Given the description of an element on the screen output the (x, y) to click on. 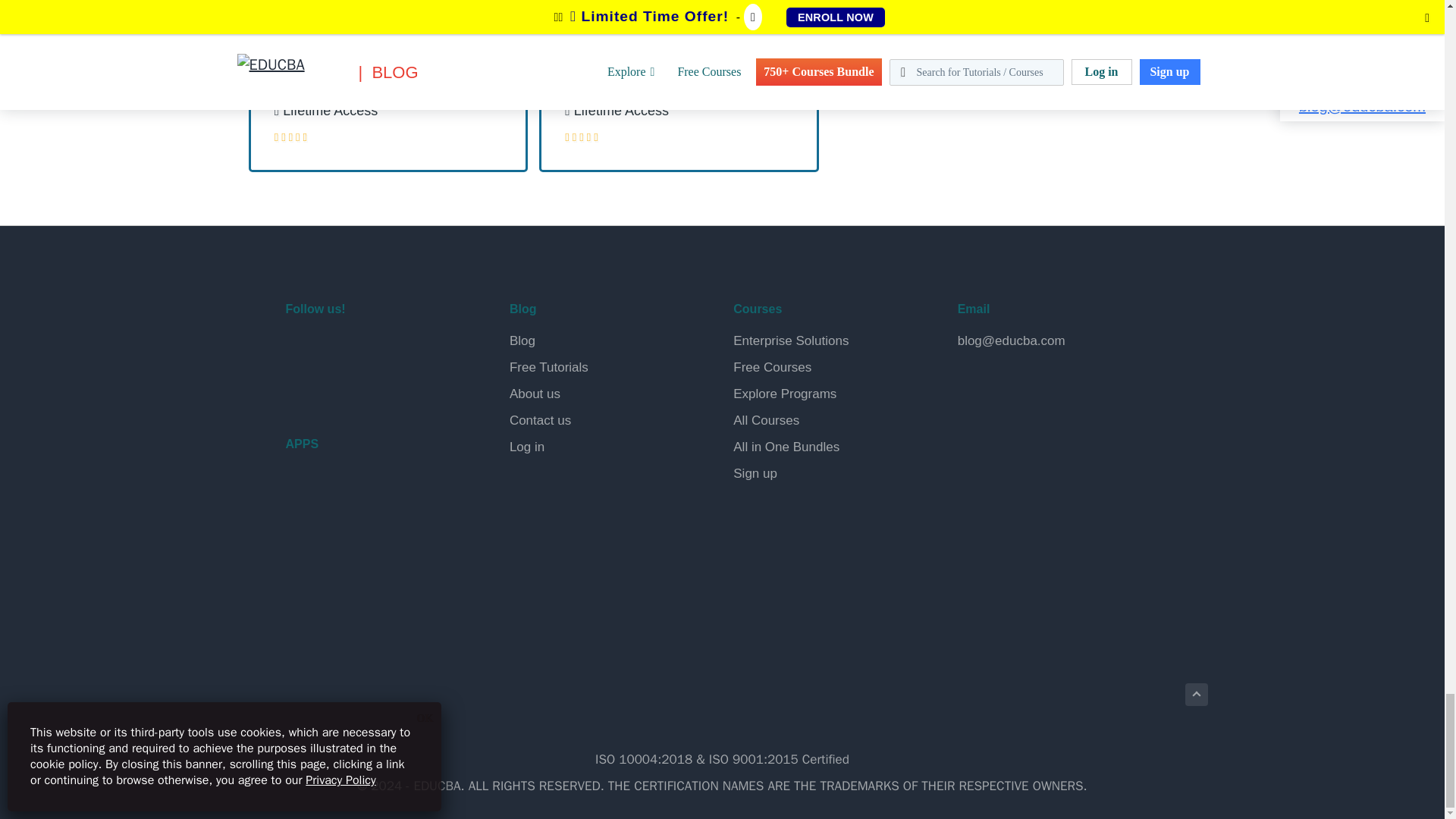
EDUCBA Android App (360, 498)
EDUCBA Coursera (336, 387)
EDUCBA Facebook (300, 349)
EDUCBA iOS App (360, 562)
EDUCBA LinkedIN (371, 349)
EDUCBA Youtube (300, 387)
EDUCBA Instagram (408, 349)
EDUCBA Twitter (336, 349)
EDUCBA Udemy (371, 387)
